Given the description of an element on the screen output the (x, y) to click on. 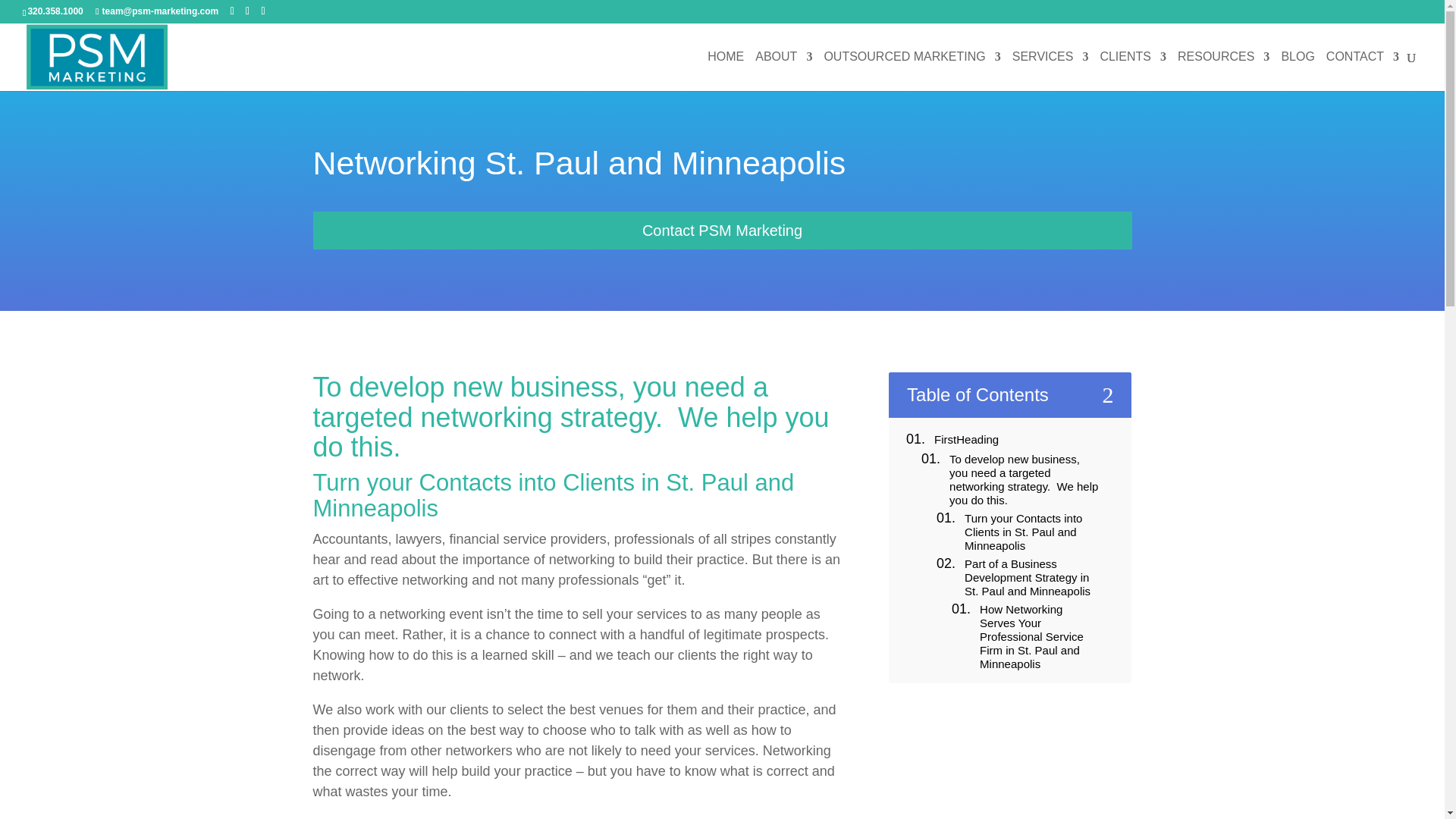
320.358.1000 (54, 10)
OUTSOURCED MARKETING (912, 70)
Welcome to PSM (725, 70)
SERVICES (1050, 70)
ABOUT (783, 70)
HOME (725, 70)
CLIENTS (1132, 70)
